Given the description of an element on the screen output the (x, y) to click on. 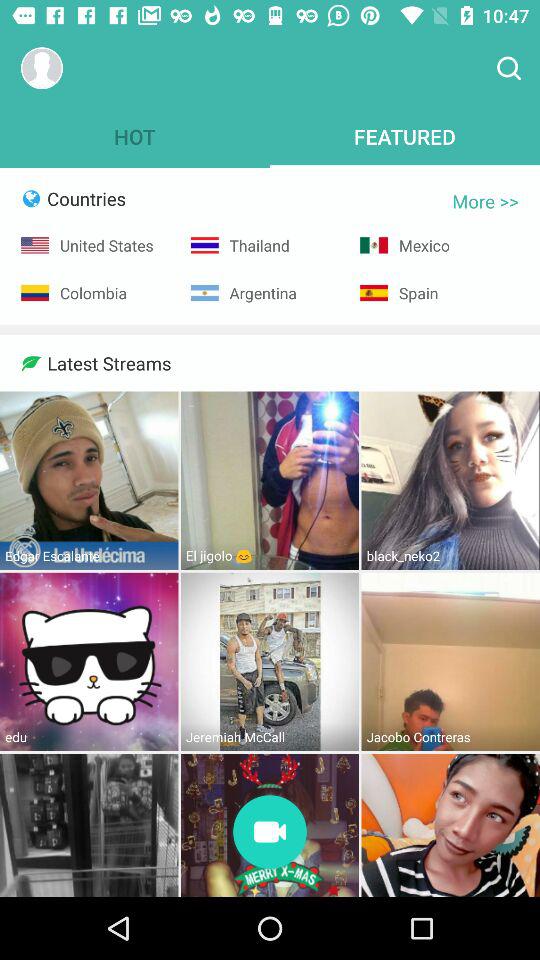
stream video (269, 834)
